Given the description of an element on the screen output the (x, y) to click on. 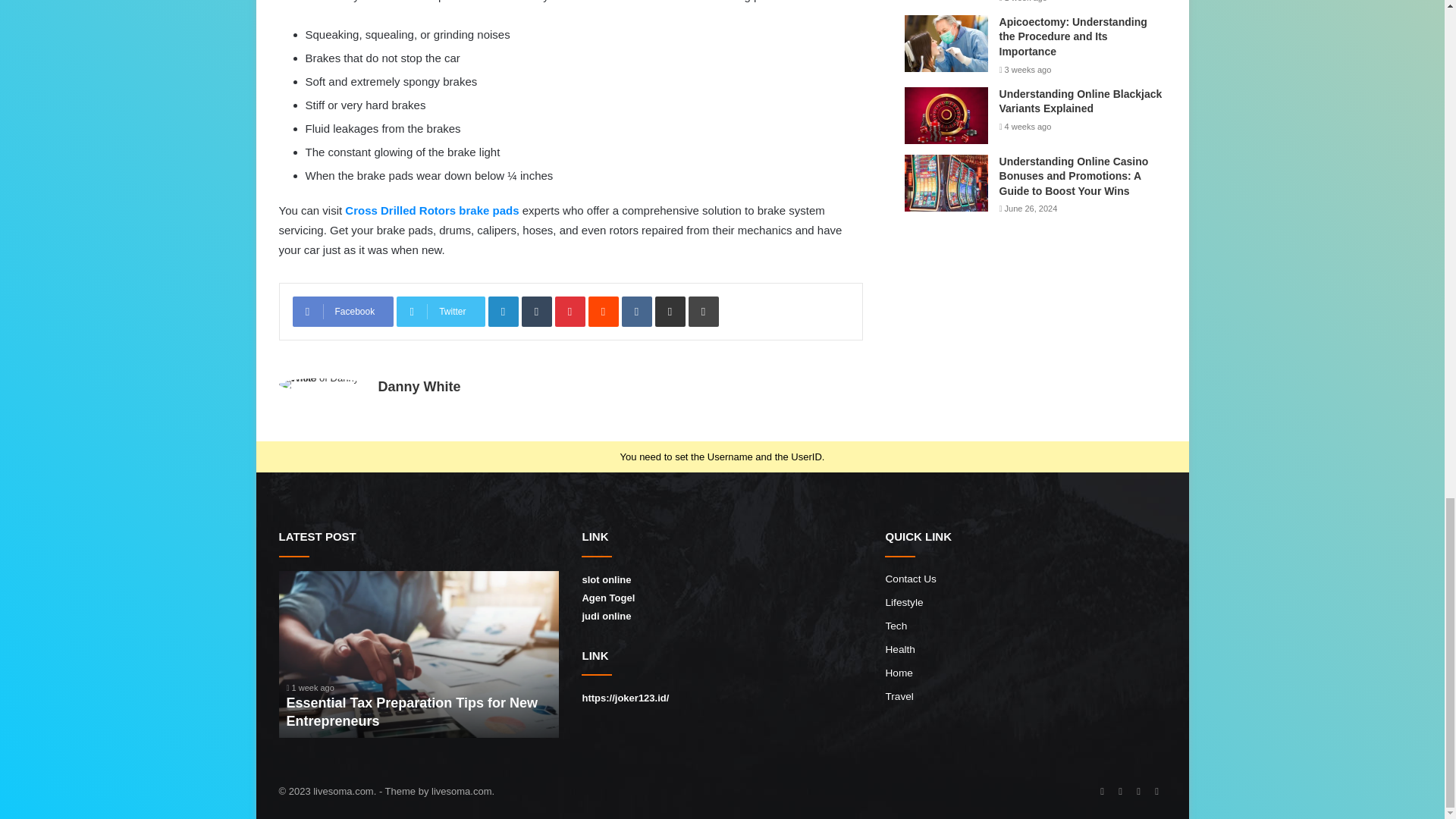
Cross Drilled Rotors brake pads (431, 210)
LinkedIn (502, 311)
Facebook (343, 311)
Essential Tax Preparation Tips for New Entrepreneurs (411, 711)
Tumblr (536, 311)
Print (703, 311)
Share via Email (670, 311)
Reddit (603, 311)
Top 3 Trending Women Short Hair Styles In 2024 (139, 653)
